Given the description of an element on the screen output the (x, y) to click on. 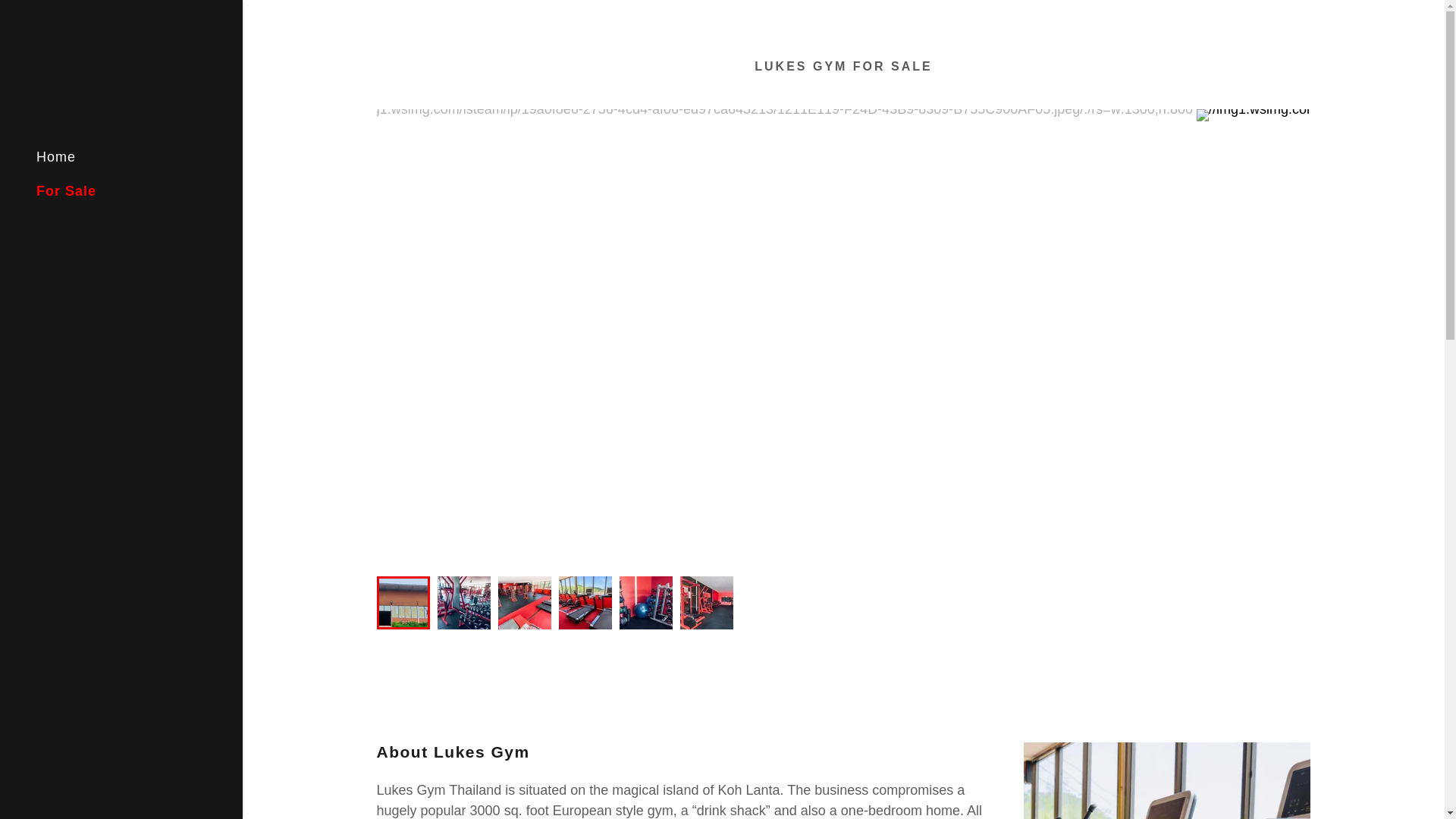
Home (55, 156)
For Sale (66, 191)
